Given the description of an element on the screen output the (x, y) to click on. 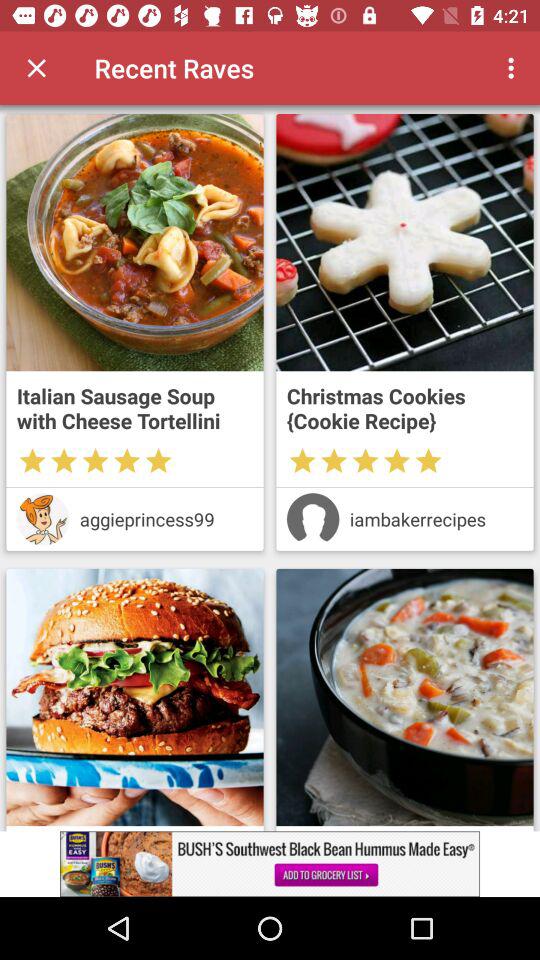
click advertisement (270, 864)
